Given the description of an element on the screen output the (x, y) to click on. 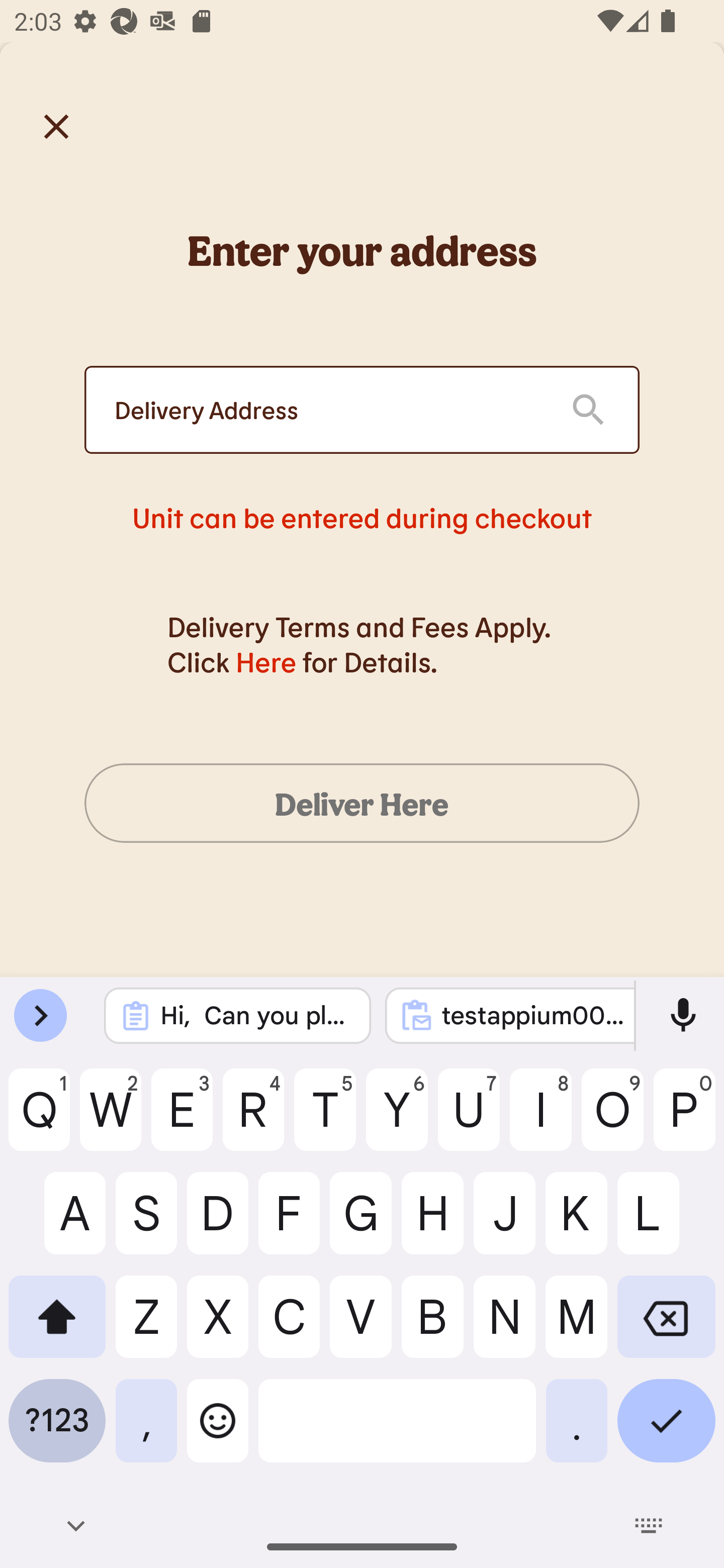
Delivery Address (326, 409)
Deliver Here (361, 803)
